Given the description of an element on the screen output the (x, y) to click on. 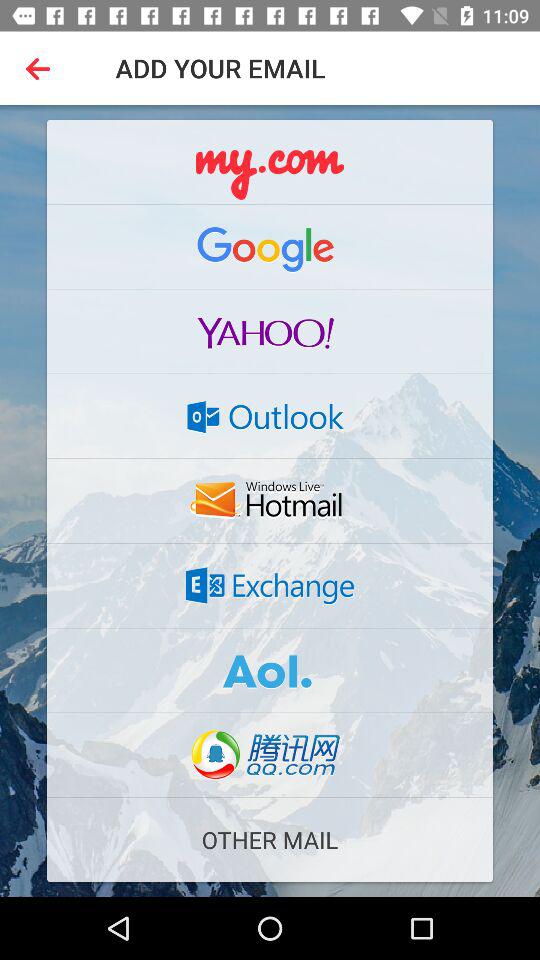
select option (269, 501)
